Given the description of an element on the screen output the (x, y) to click on. 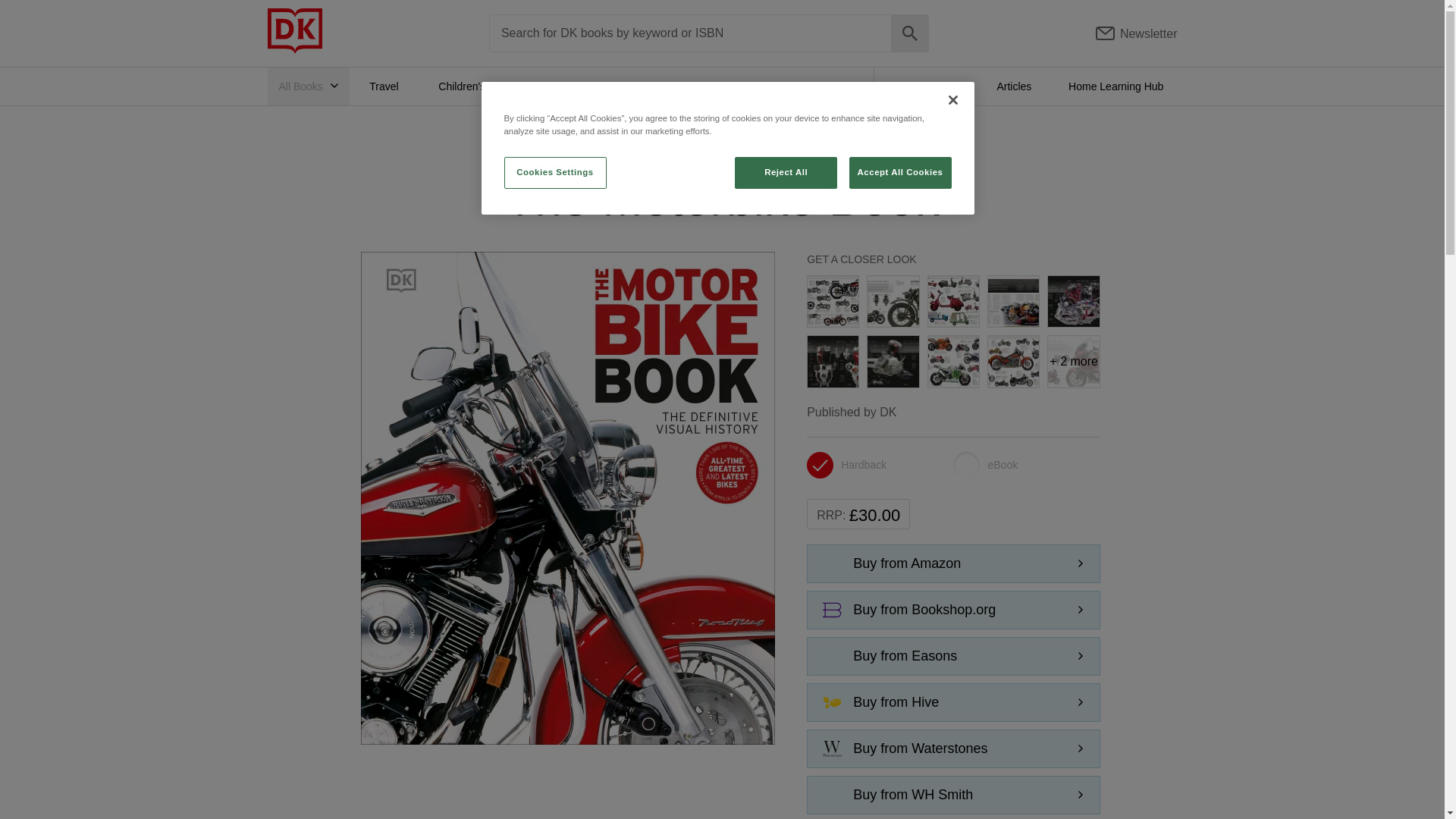
Buy The Motorbike Book from Hive (953, 702)
The Motorbike Book - thumbnail of spread image 6 (833, 360)
The Motorbike Book - thumbnail of spread image 5 (1073, 301)
Buy The Motorbike Book from Easons (953, 656)
Gardening (726, 86)
Education (637, 86)
Newsletter (1136, 33)
The Motorbike Book - thumbnail of spread image 4 (1013, 301)
Home Learning Hub (1115, 86)
The Motorbike Book - thumbnail of spread image 1 (833, 301)
